Given the description of an element on the screen output the (x, y) to click on. 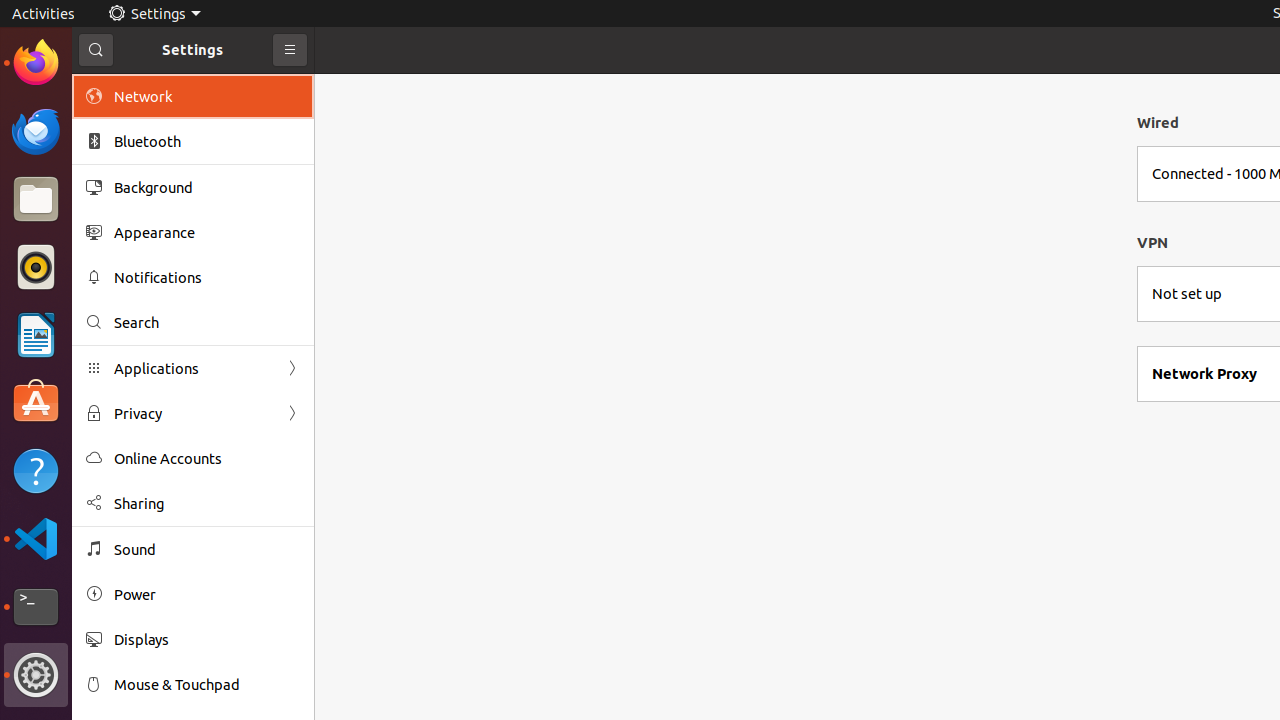
Mouse & Touchpad Element type: label (207, 684)
